Given the description of an element on the screen output the (x, y) to click on. 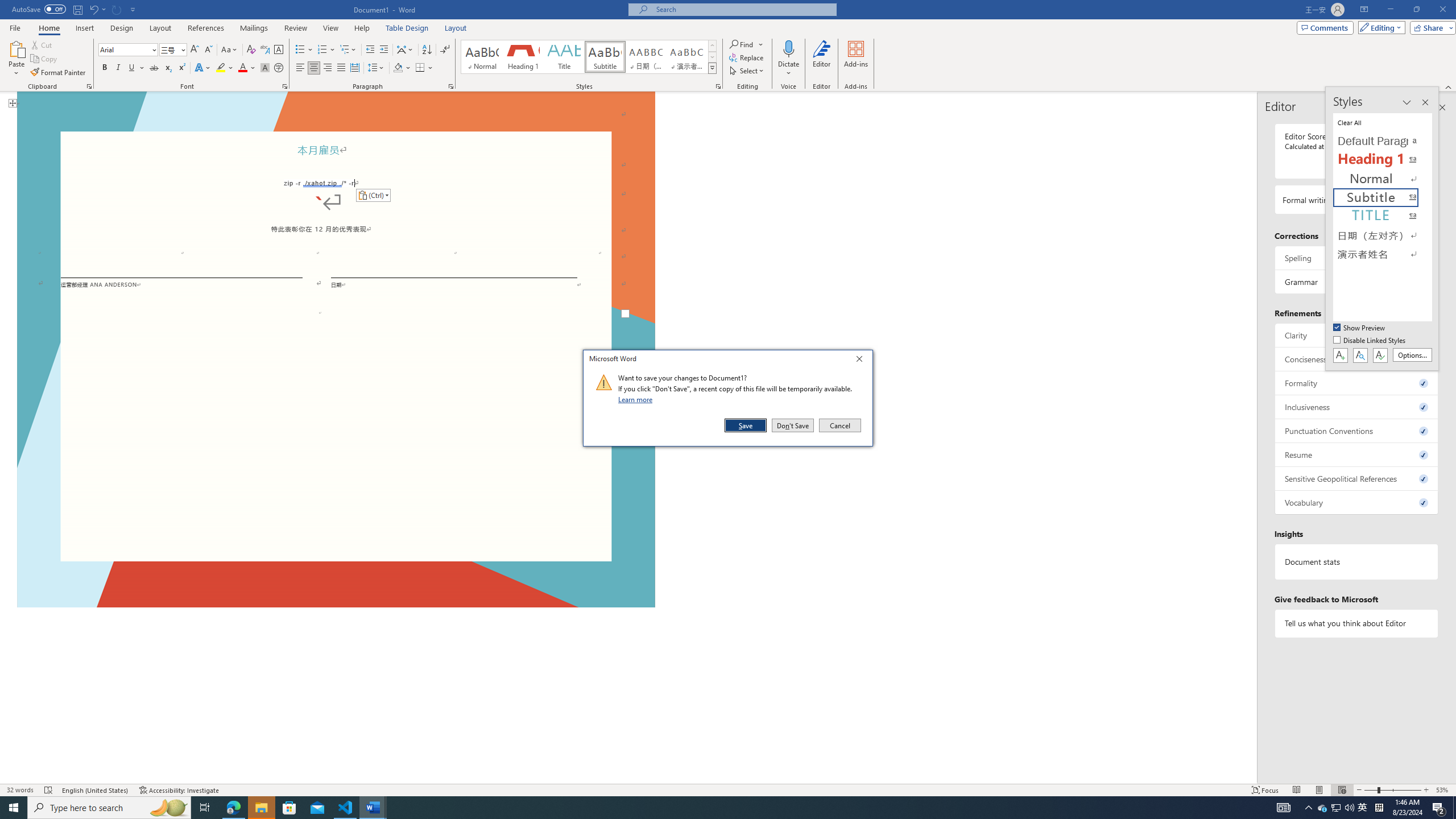
File Explorer - 1 running window (261, 807)
